Given the description of an element on the screen output the (x, y) to click on. 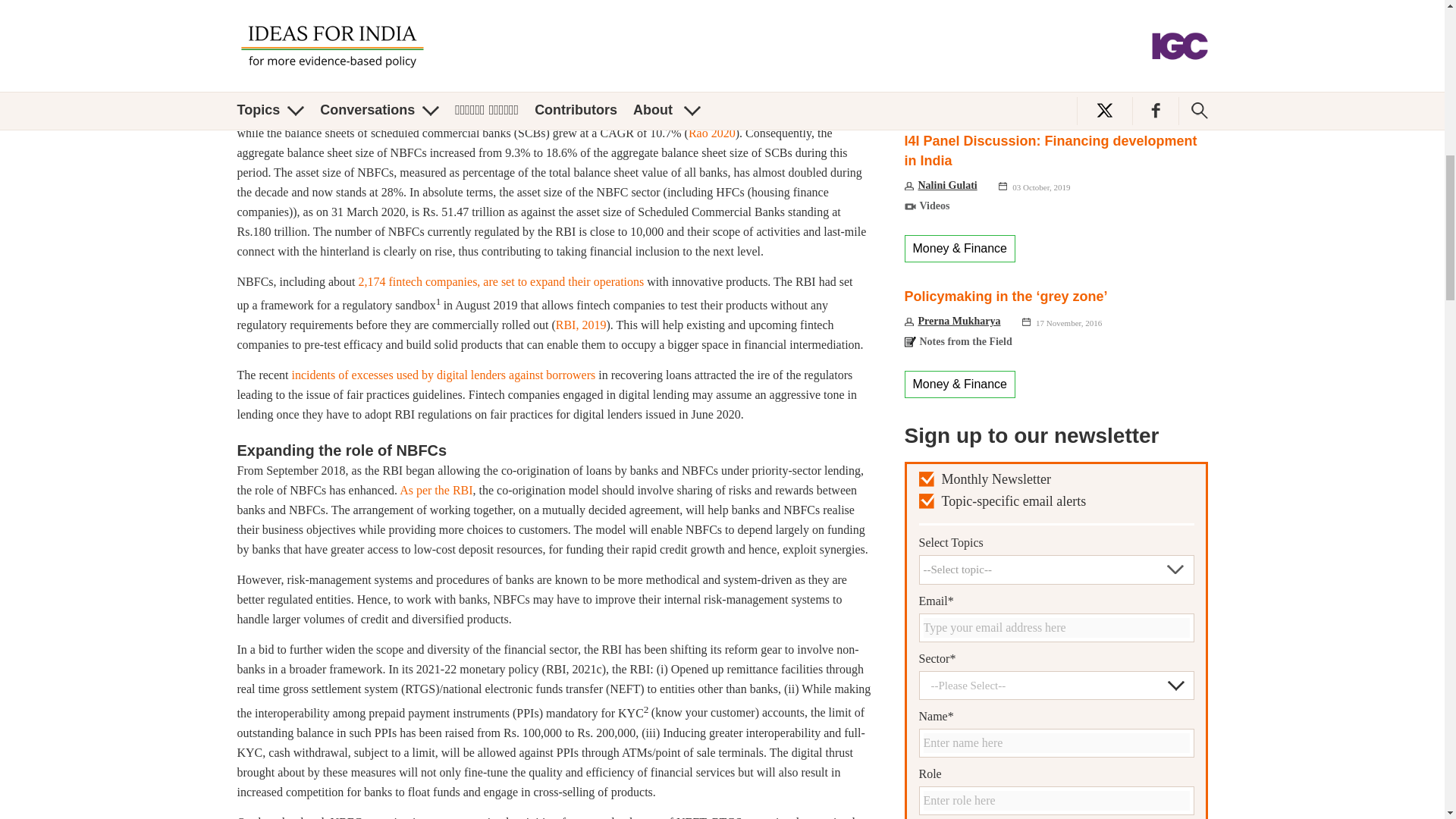
Rao 2020 (711, 132)
2,174 fintech companies, are set to expand their operations (501, 281)
--Select topic-- (1056, 569)
new-found activities of NBFCs (540, 27)
